Given the description of an element on the screen output the (x, y) to click on. 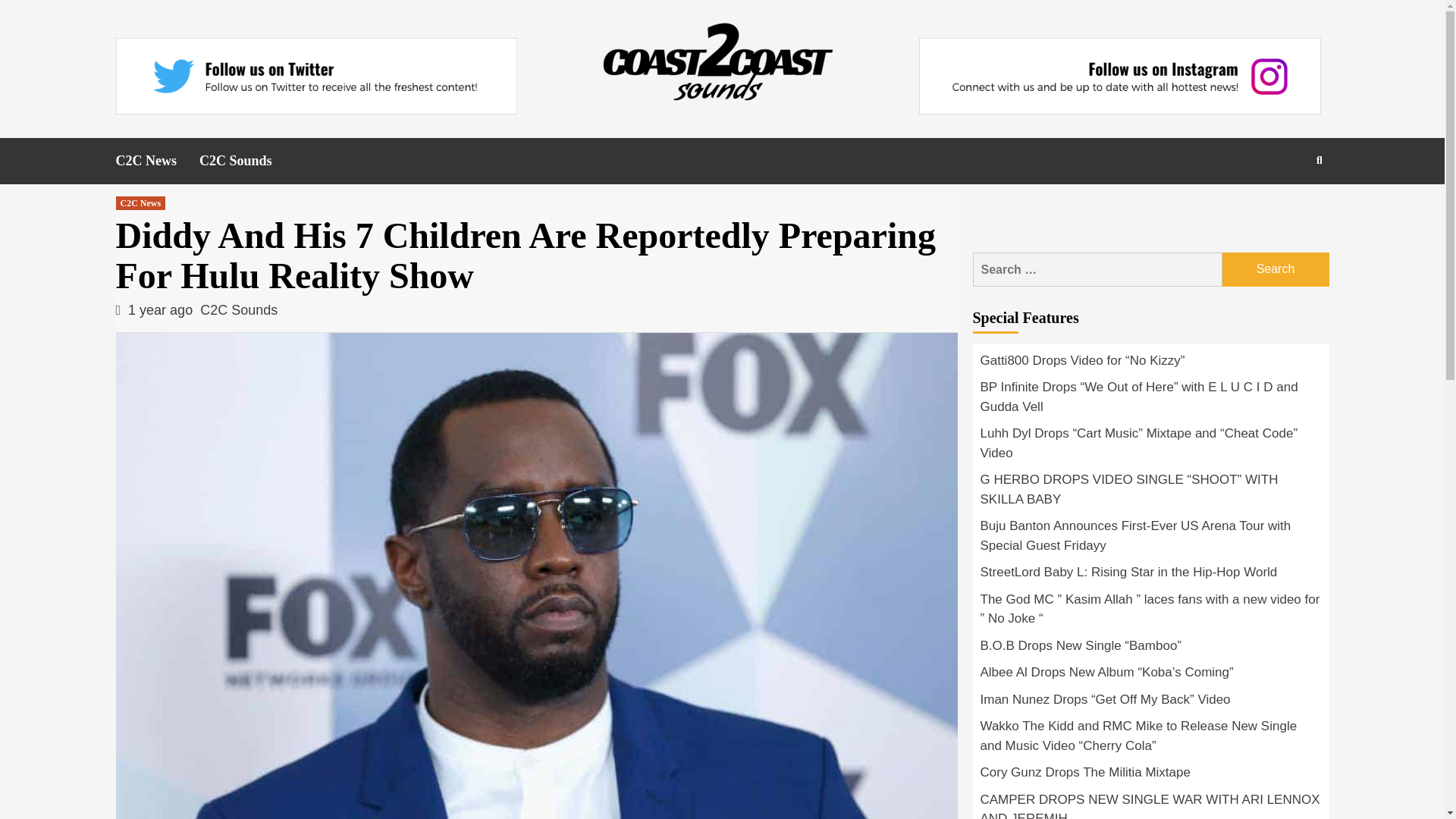
C2C News (157, 161)
Search (1283, 209)
Follow on Twitter (315, 75)
Search (1276, 269)
StreetLord Baby L: Rising Star in the Hip-Hop World (1149, 575)
C2C News (140, 202)
C2C Sounds (239, 309)
Follow on Instagram (1119, 75)
Advertisement (1150, 214)
Search (1276, 269)
Search (1276, 269)
Cory Gunz Drops The Militia Mixtape (1149, 776)
CAMPER DROPS NEW SINGLE WAR WITH ARI LENNOX AND JEREMIH (1149, 804)
C2C Sounds (247, 161)
